Given the description of an element on the screen output the (x, y) to click on. 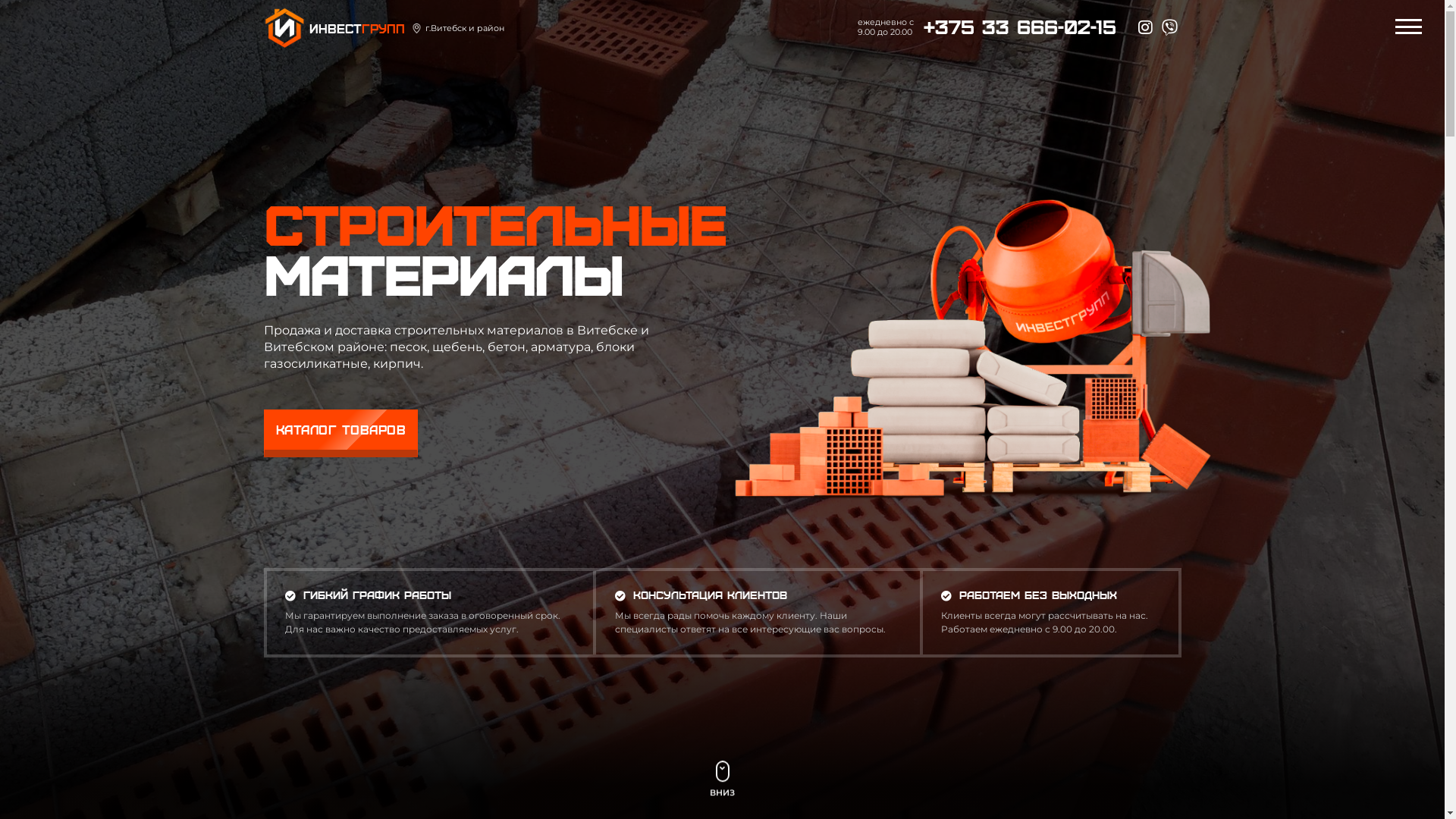
+375 33 666-02-15 Element type: text (1019, 26)
